Given the description of an element on the screen output the (x, y) to click on. 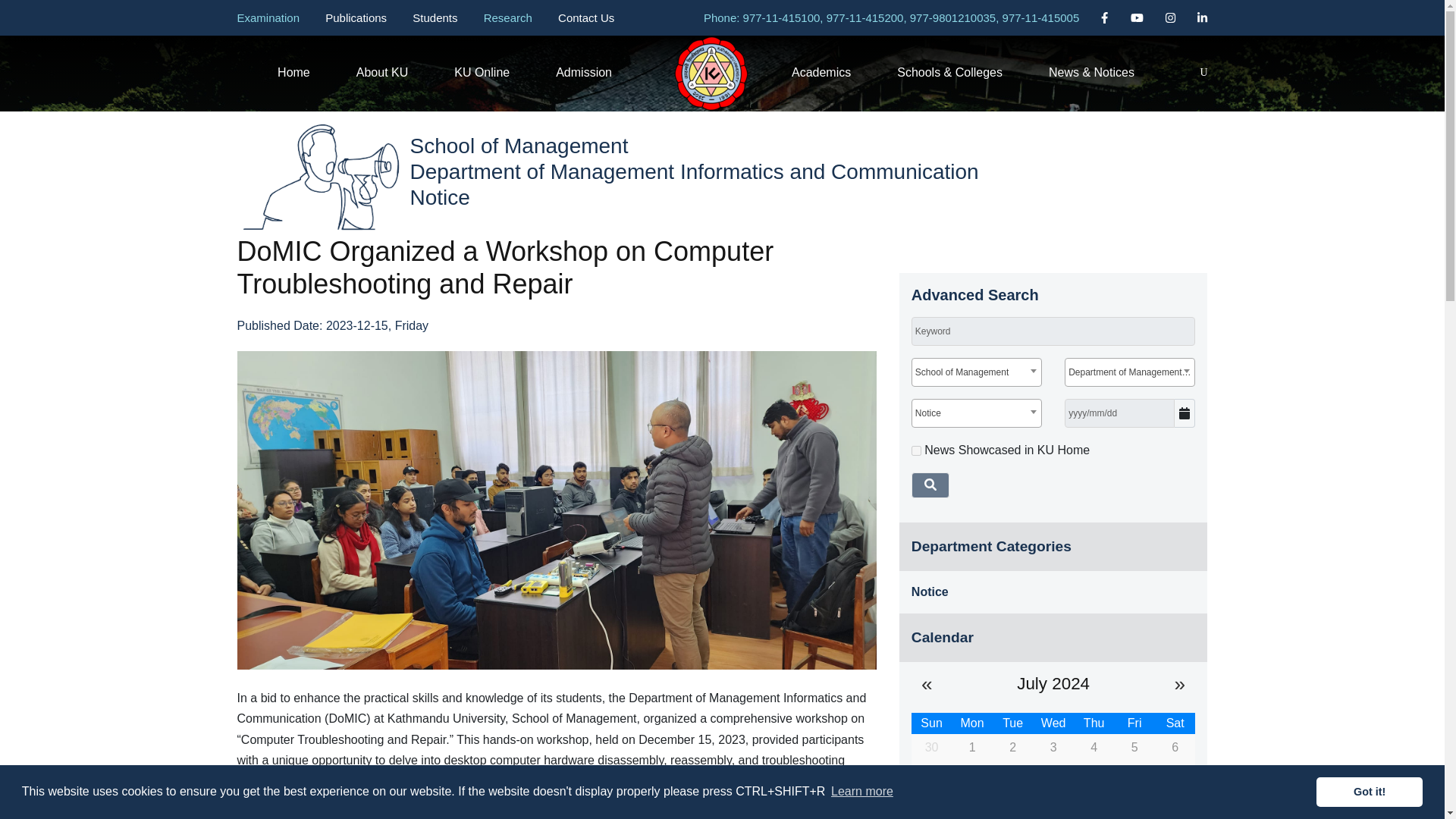
Got it! (1369, 791)
Learn more (861, 791)
1 (916, 450)
